Given the description of an element on the screen output the (x, y) to click on. 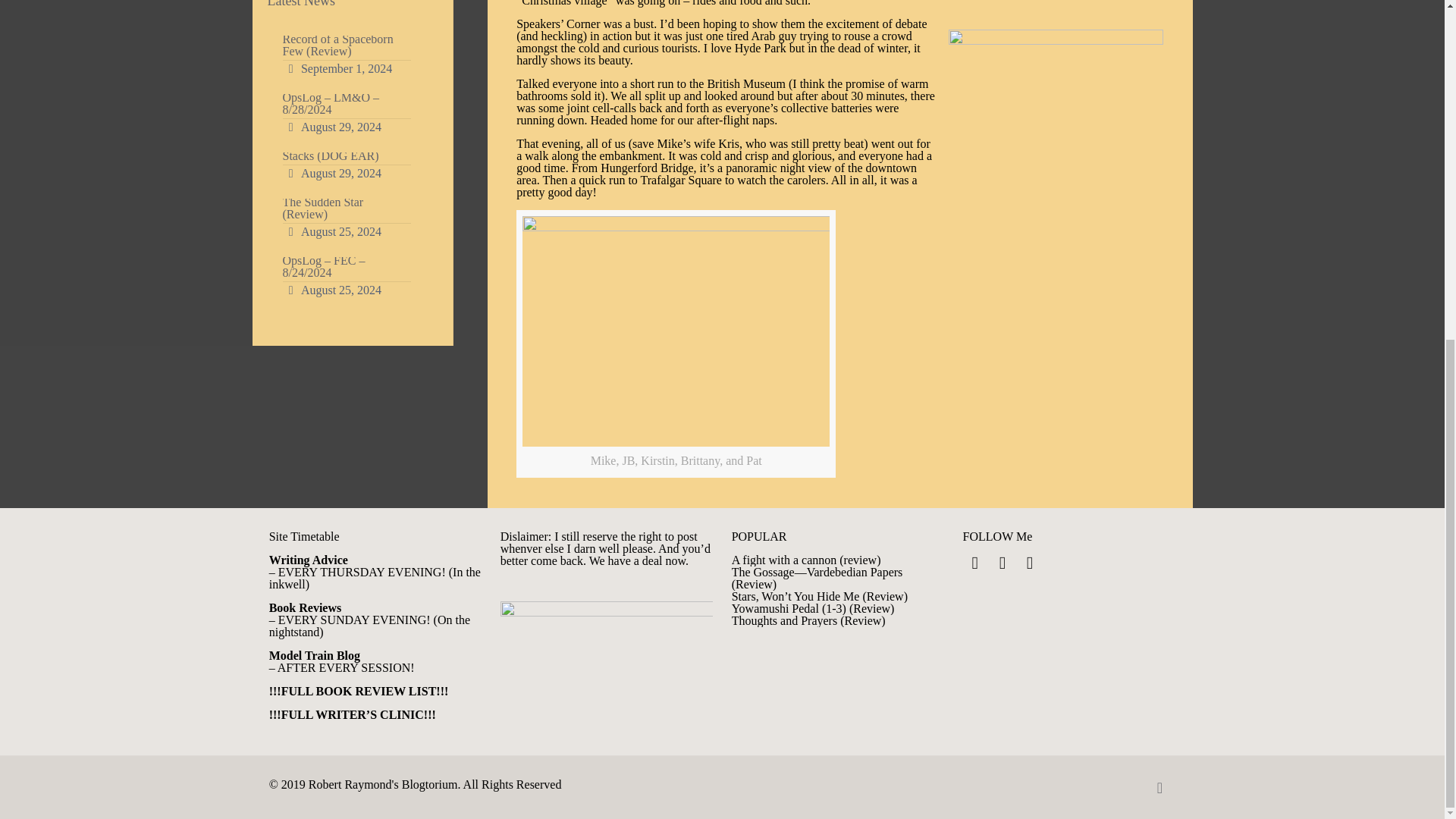
!!!FULL BOOK REVIEW LIST!!! (358, 690)
Writing Advice (308, 559)
Book Reviews (305, 607)
Model Train Blog (314, 655)
